Given the description of an element on the screen output the (x, y) to click on. 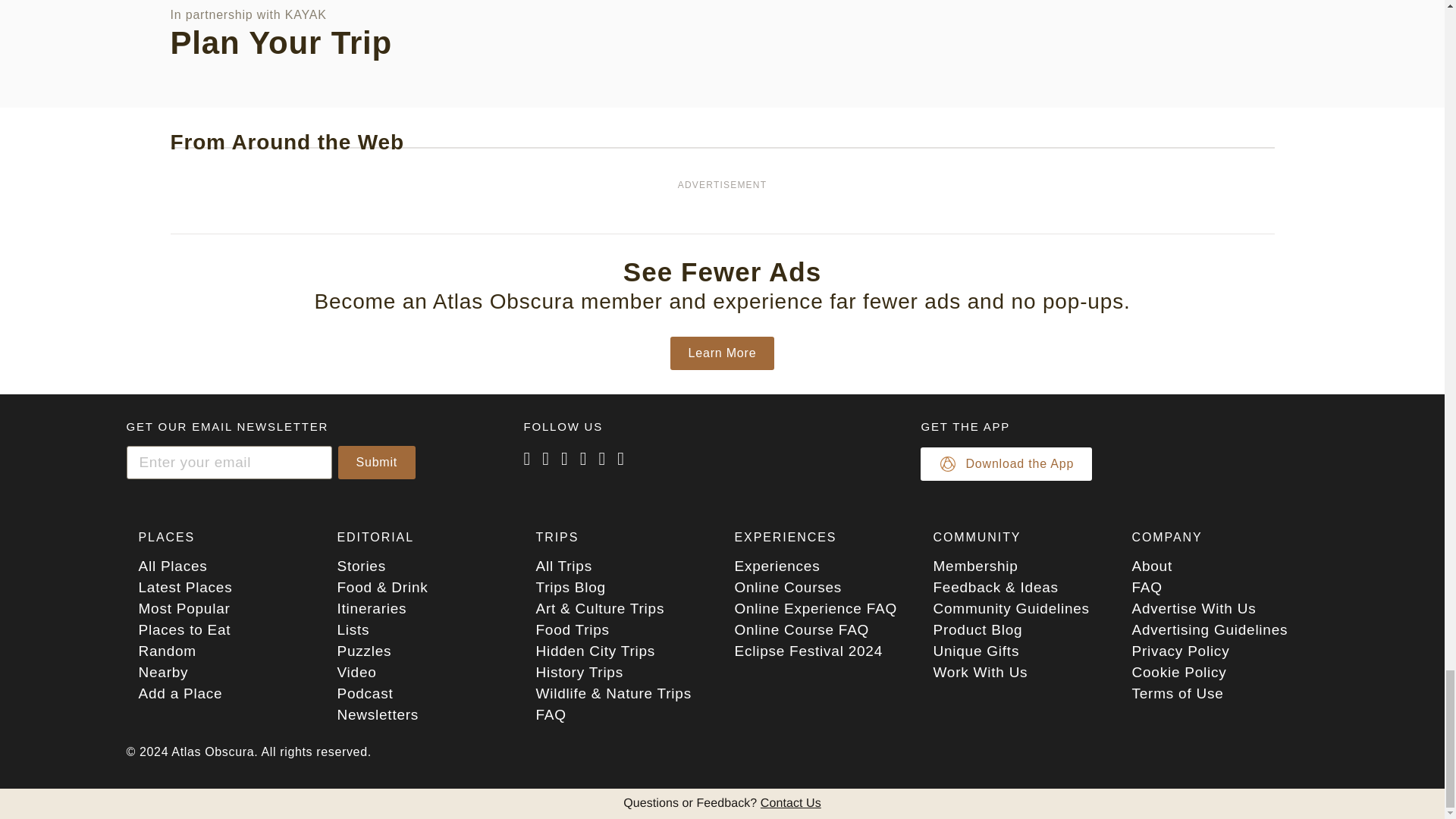
Submit (376, 462)
